Given the description of an element on the screen output the (x, y) to click on. 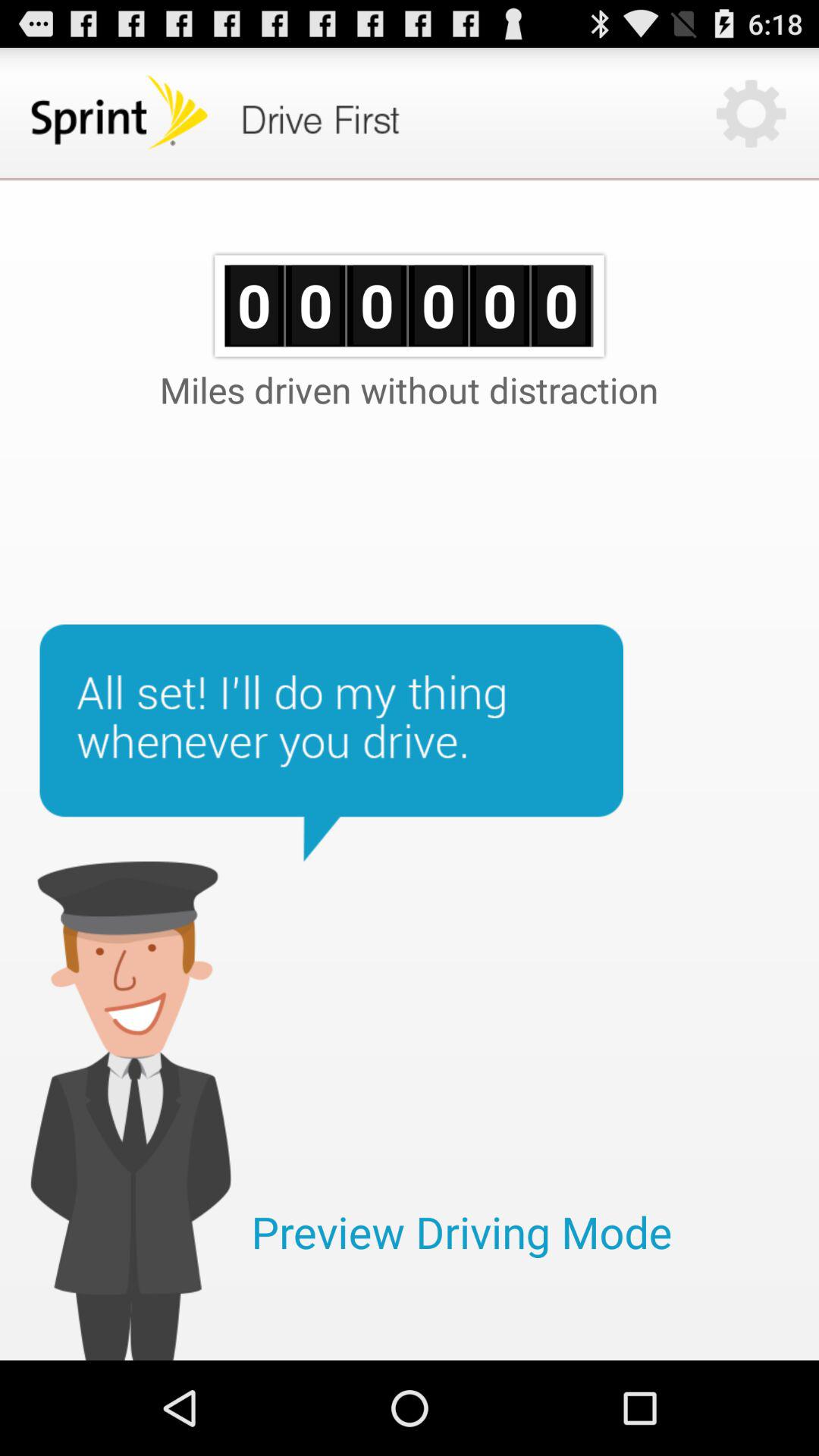
scroll to preview driving mode item (461, 1231)
